Given the description of an element on the screen output the (x, y) to click on. 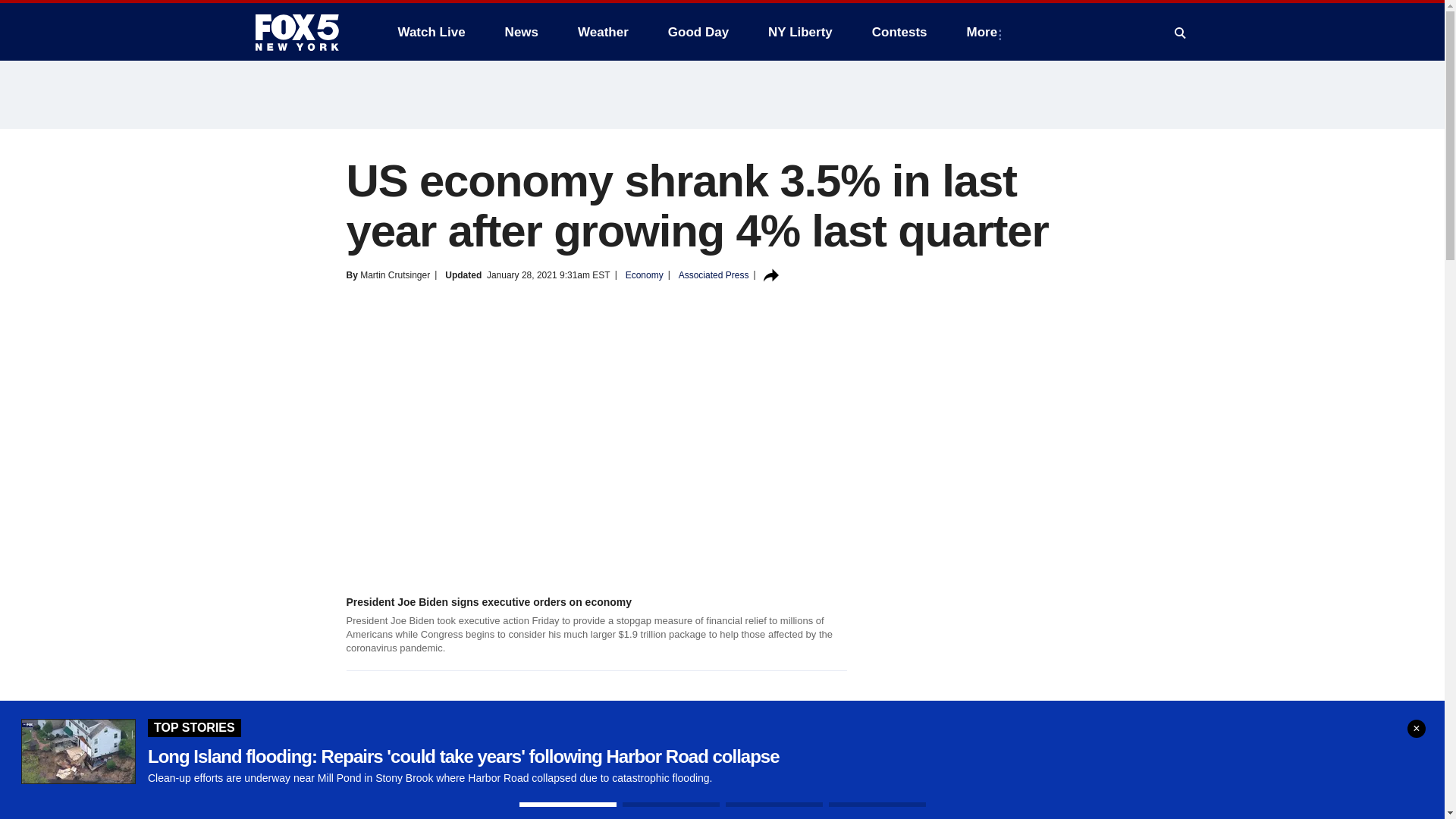
Good Day (698, 32)
NY Liberty (799, 32)
News (521, 32)
Weather (603, 32)
More (985, 32)
Watch Live (431, 32)
Contests (899, 32)
